Given the description of an element on the screen output the (x, y) to click on. 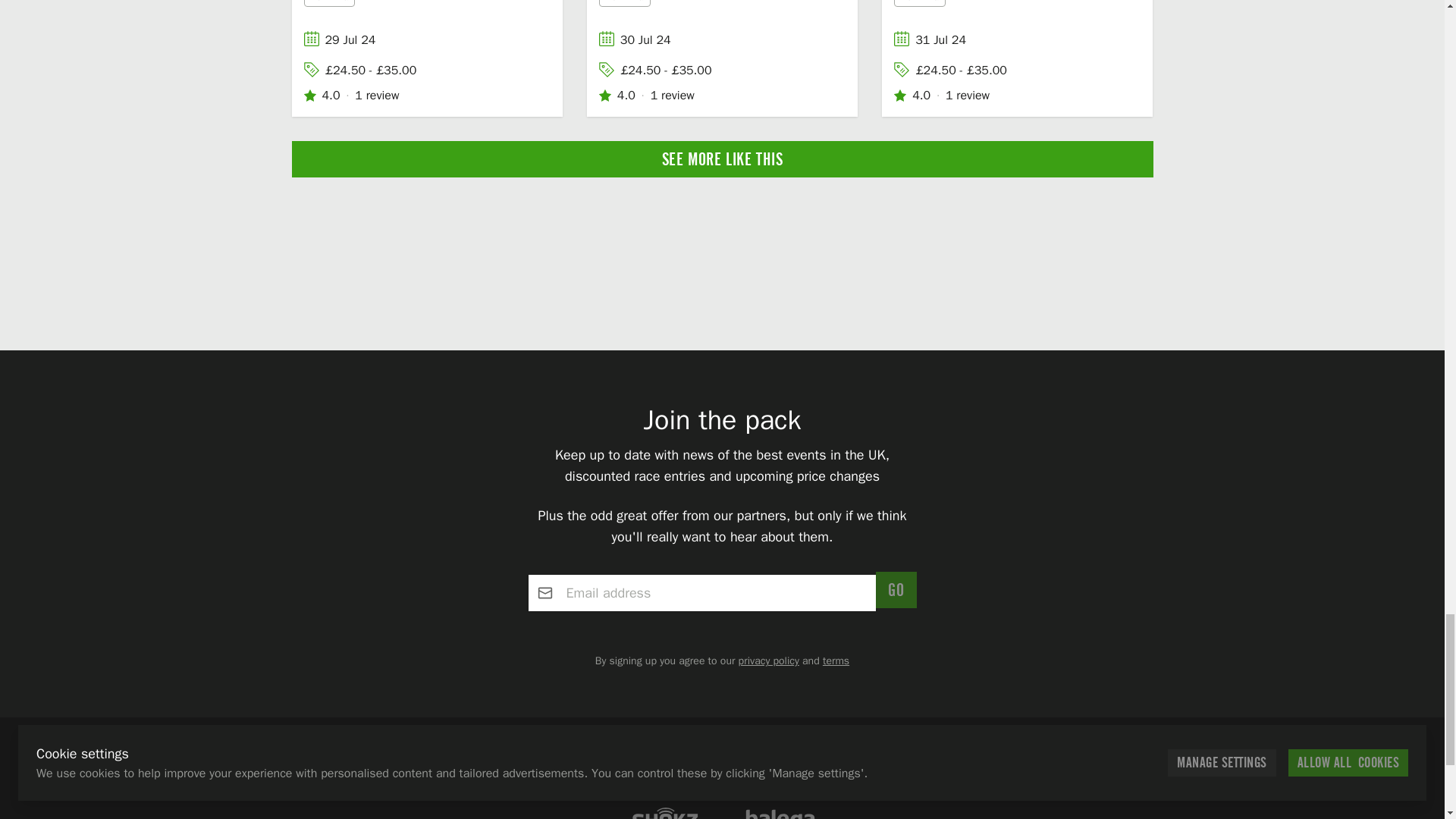
Go (895, 589)
